Given the description of an element on the screen output the (x, y) to click on. 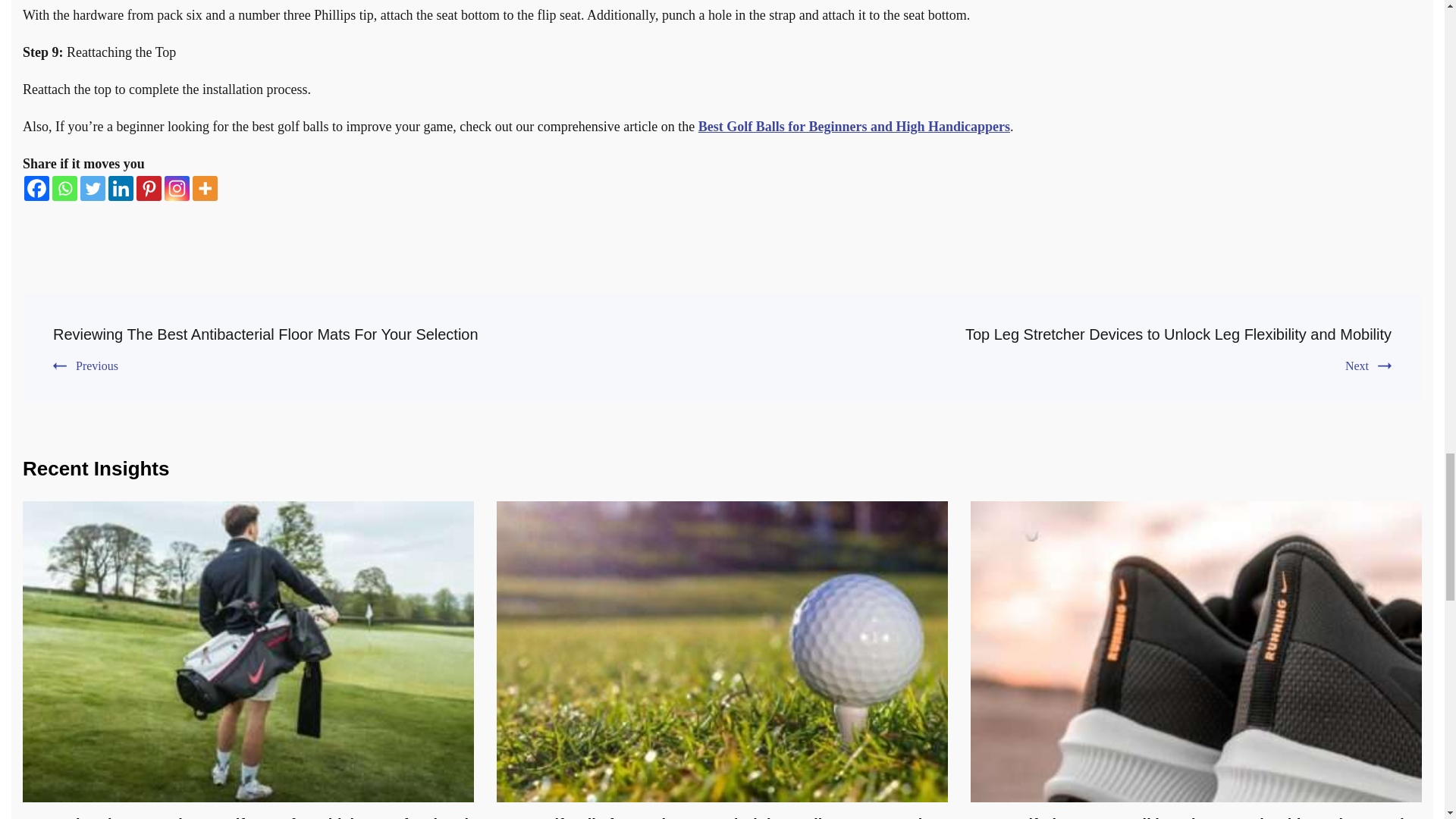
Linkedin (120, 188)
Twitter (92, 188)
Whatsapp (64, 188)
Instagram (176, 188)
Facebook (36, 188)
More (204, 188)
Pinterest (148, 188)
